Given the description of an element on the screen output the (x, y) to click on. 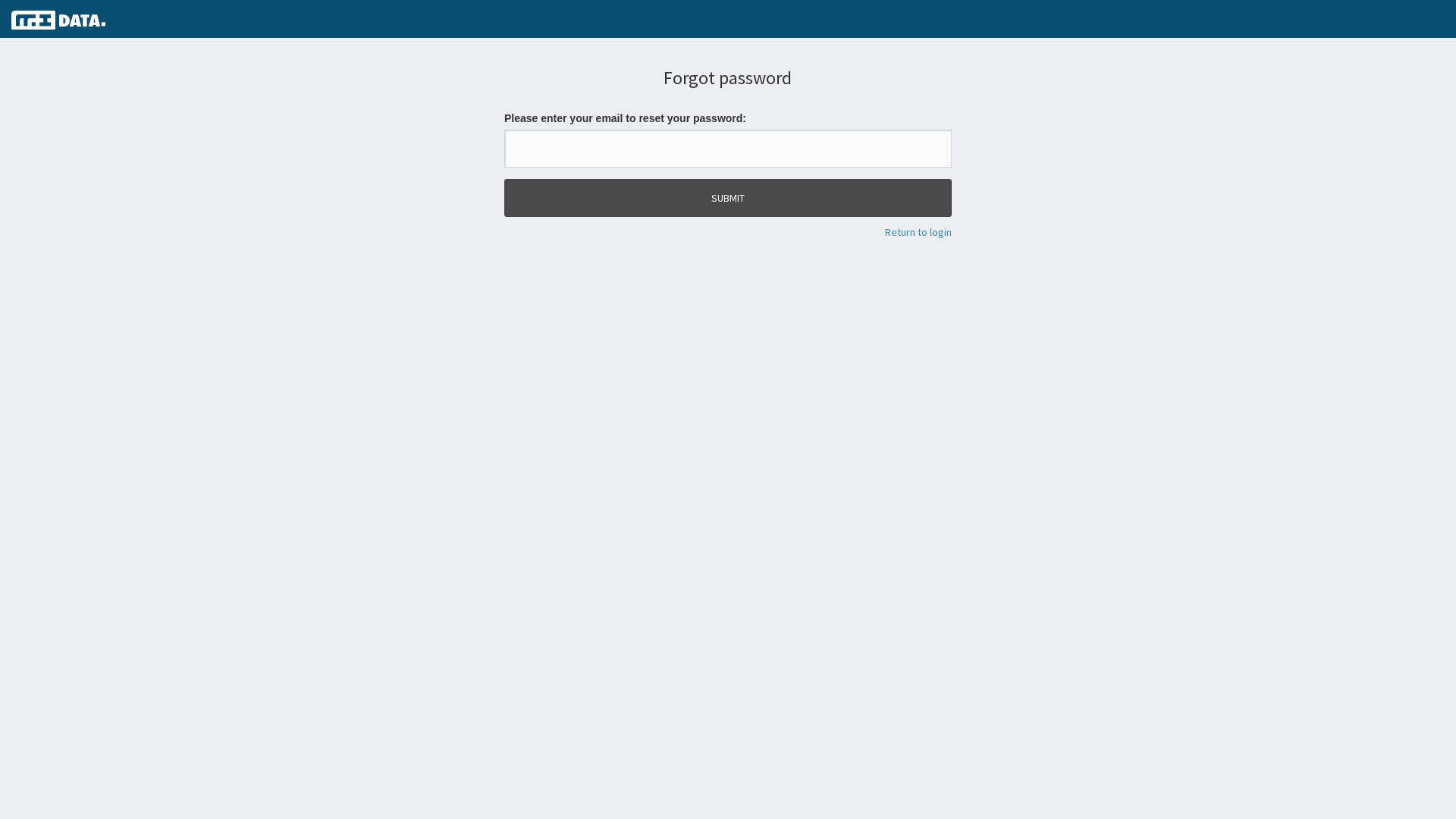
SUBMIT Element type: text (727, 197)
Return to login Element type: text (917, 231)
